Given the description of an element on the screen output the (x, y) to click on. 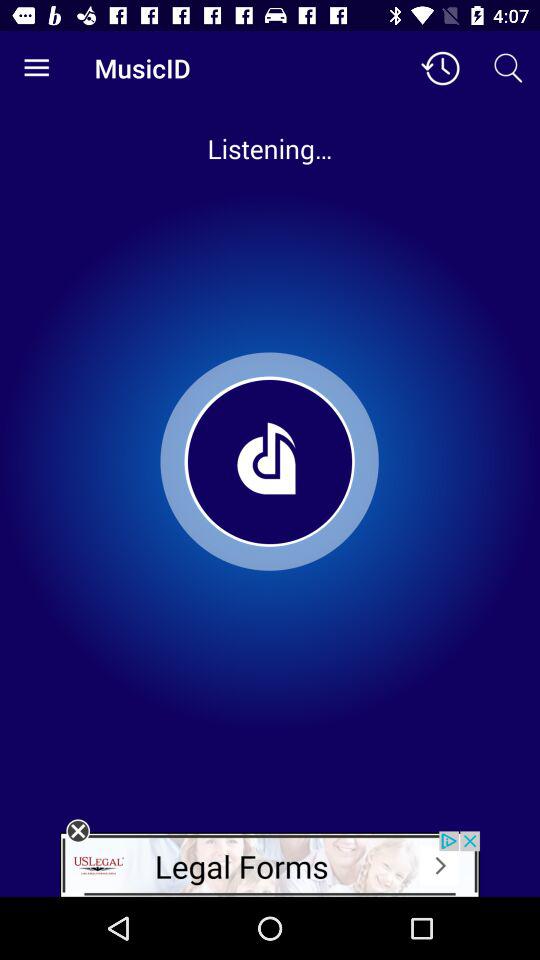
click to close the advertisement (78, 831)
